Given the description of an element on the screen output the (x, y) to click on. 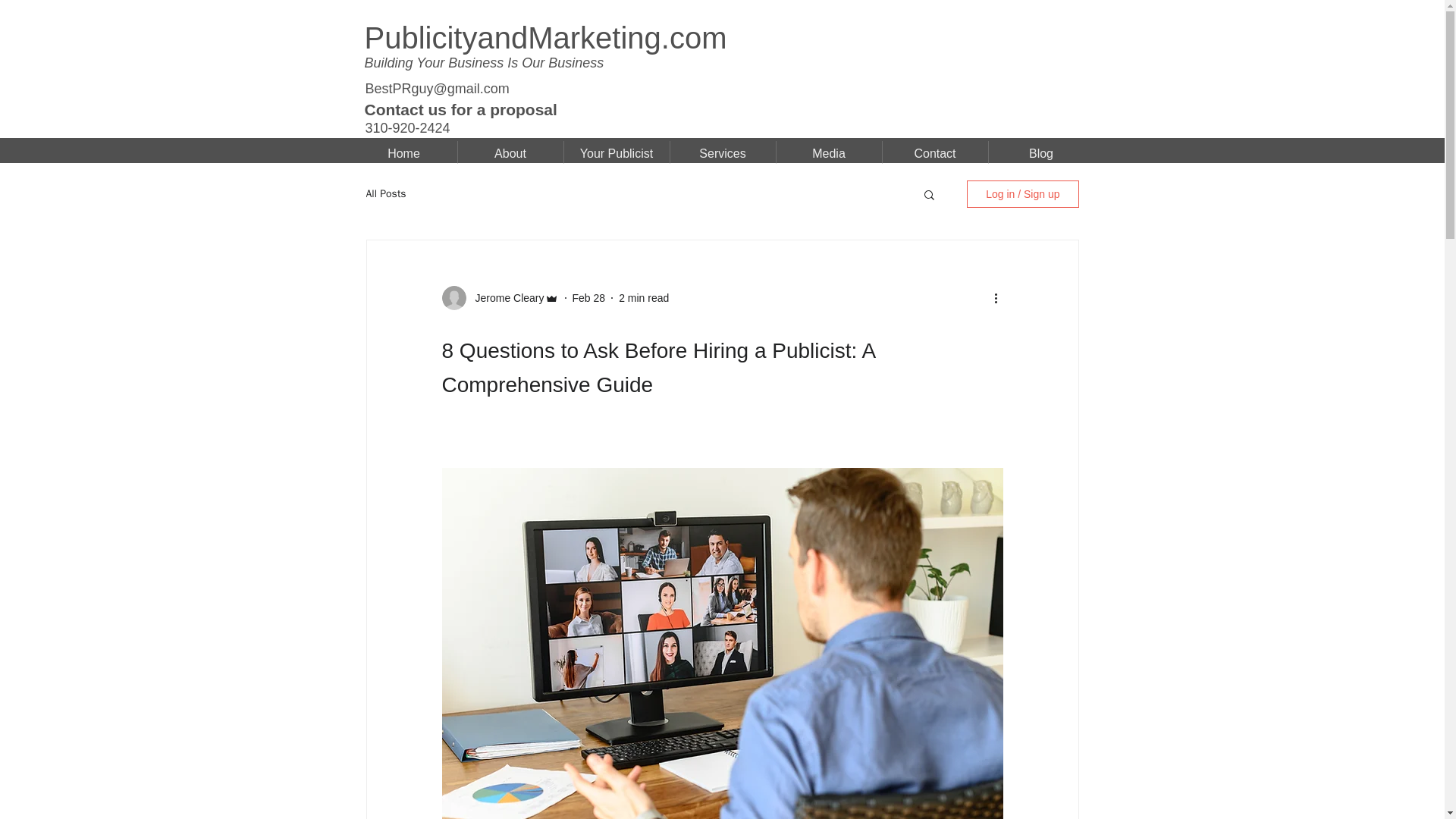
Blog (1041, 153)
Your Publicist (616, 153)
Contact (935, 153)
PublicityandMarketing.com (545, 37)
Feb 28 (588, 297)
Media (829, 153)
Building Your Business Is Our Business (484, 62)
2 min read (643, 297)
Services (722, 153)
Home (403, 153)
